Given the description of an element on the screen output the (x, y) to click on. 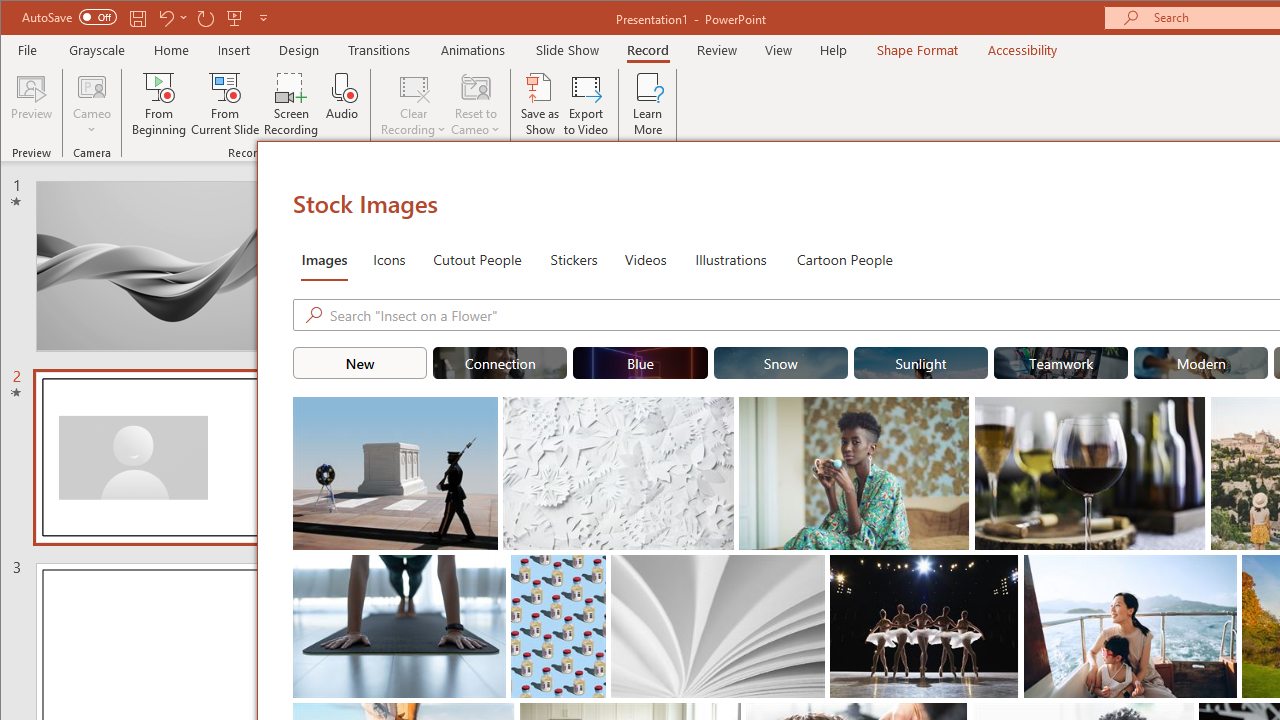
Videos (645, 258)
Cartoon People (844, 258)
"Blue" Stock Images. (640, 362)
